Given the description of an element on the screen output the (x, y) to click on. 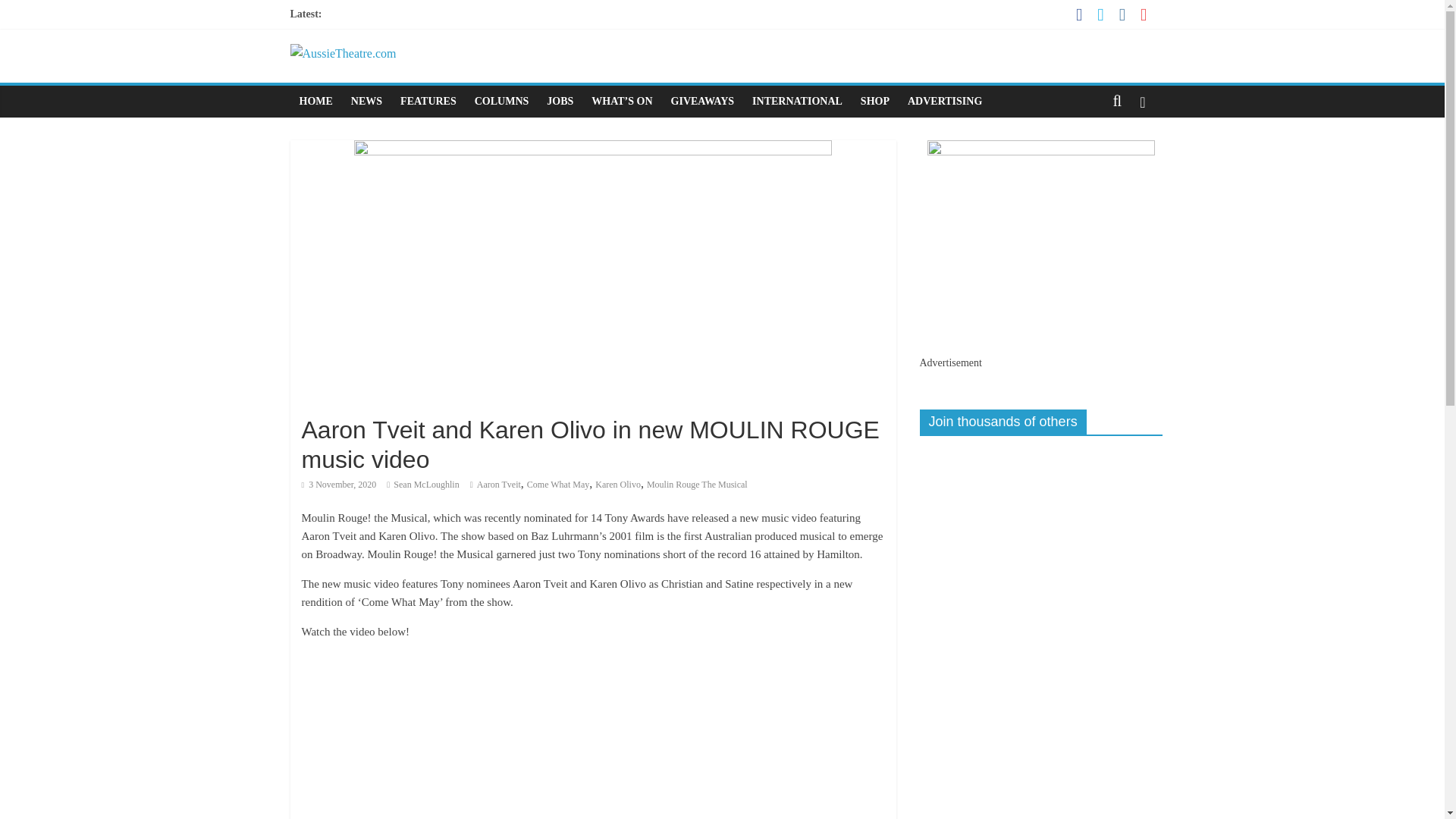
NEWS (366, 101)
Sean McLoughlin (425, 484)
12:24 pm (339, 484)
JOBS (559, 101)
Karen Olivo (617, 484)
Moulin Rouge The Musical (697, 484)
FEATURES (428, 101)
HOME (314, 101)
COLUMNS (501, 101)
3 November, 2020 (339, 484)
